Given the description of an element on the screen output the (x, y) to click on. 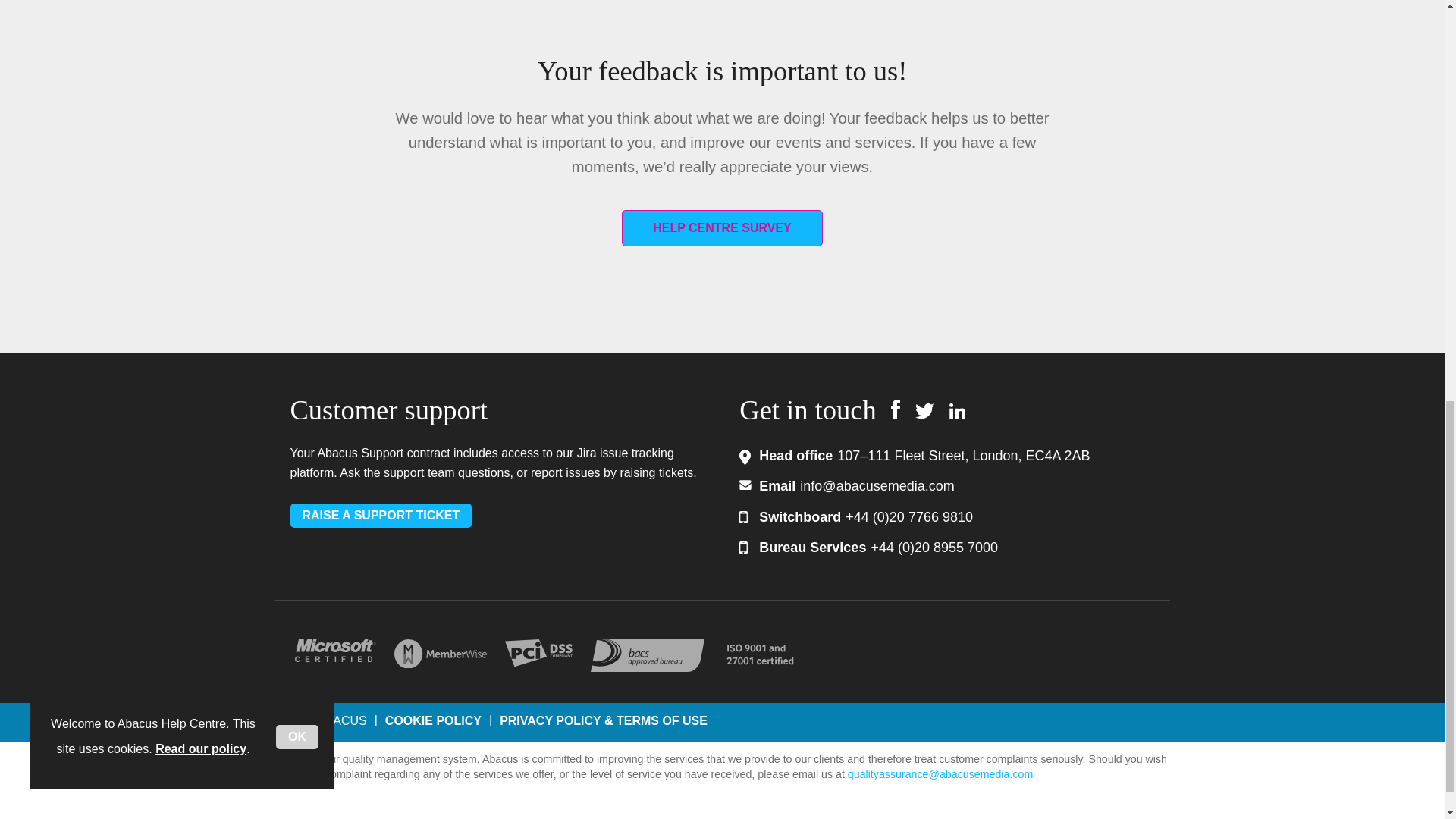
footer-social-twitter (924, 410)
Microsoft (334, 651)
Memberwise (440, 653)
PCI DDS compliant (538, 652)
footer-social-li (957, 411)
